Given the description of an element on the screen output the (x, y) to click on. 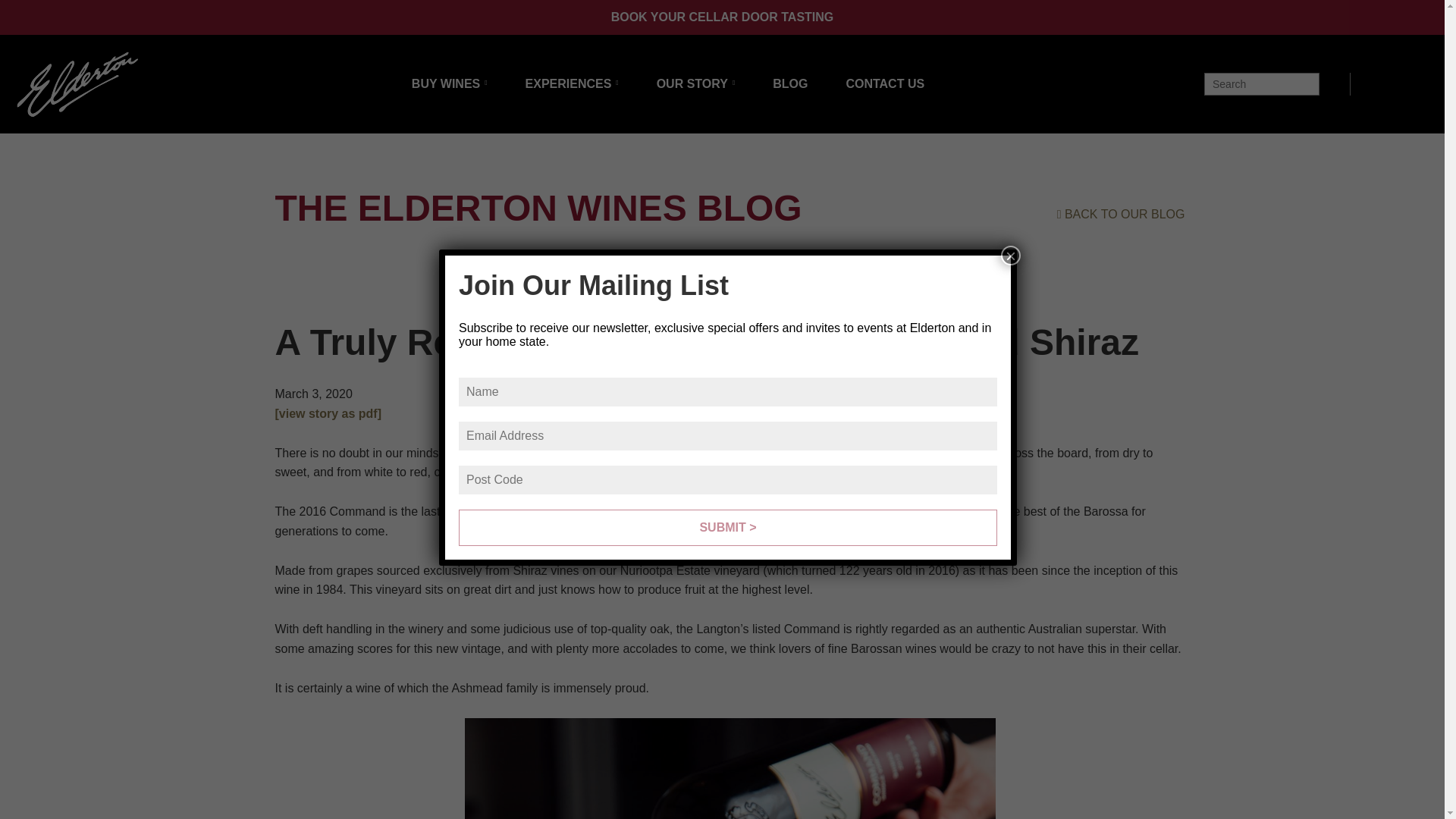
EXPERIENCES (571, 83)
BLOG (790, 83)
OUR STORY (695, 83)
BUY WINES (449, 83)
CONTACT US (884, 83)
View your shopping cart (1374, 82)
BOOK YOUR CELLAR DOOR TASTING (722, 16)
